Given the description of an element on the screen output the (x, y) to click on. 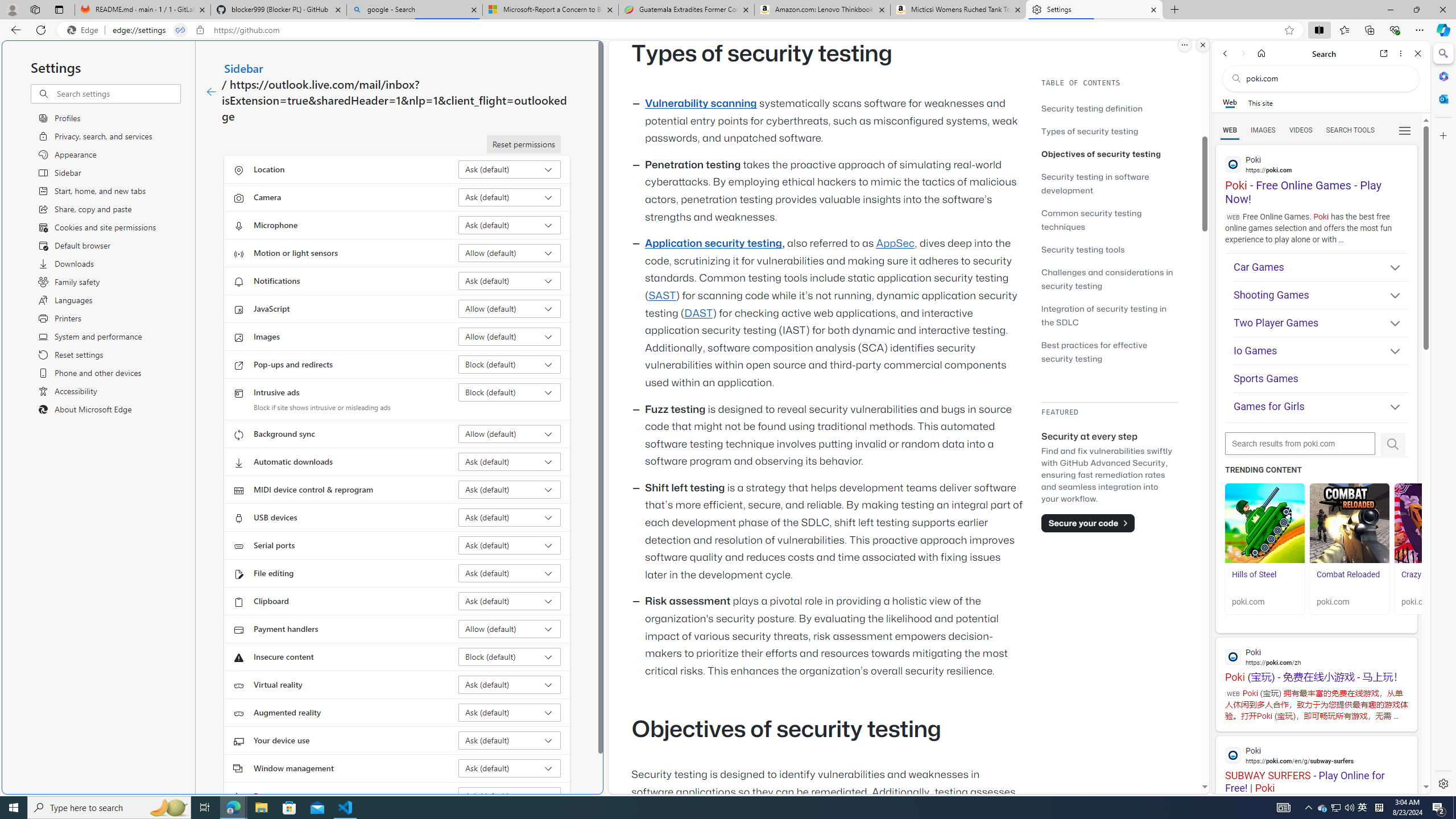
Automatic downloads Ask (default) (509, 461)
Two Player Games (1320, 323)
Application security testing (713, 243)
Intrusive ads Block (default) (509, 392)
Shooting Games (1320, 295)
Objectives of security testing (1101, 153)
Security testing in software development (1109, 183)
Close split screen. (1202, 45)
